Given the description of an element on the screen output the (x, y) to click on. 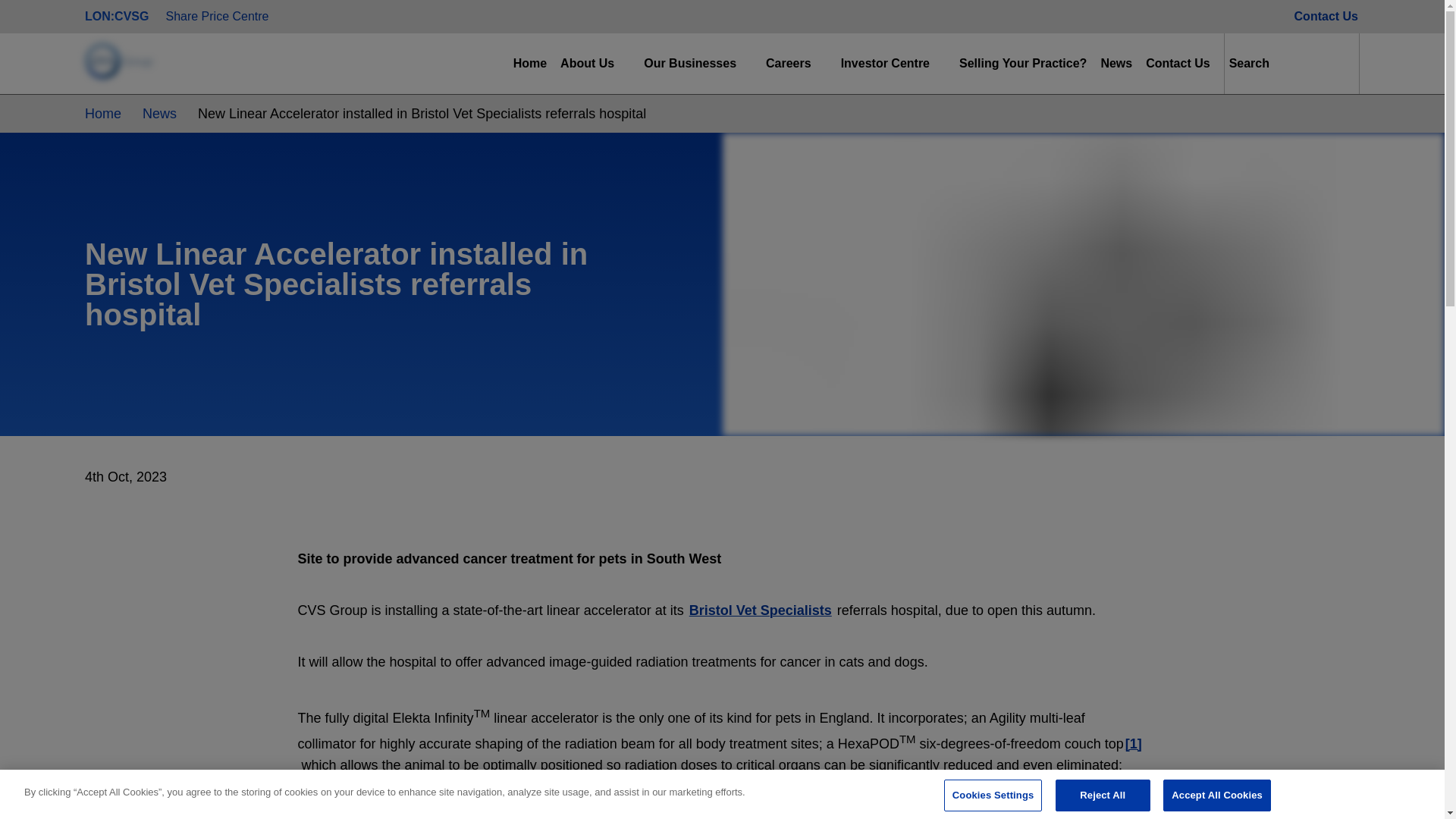
Share Price Centre (216, 16)
Contact Us (1177, 63)
Contact Us (1325, 16)
Selling Your Practice? (1022, 63)
